Given the description of an element on the screen output the (x, y) to click on. 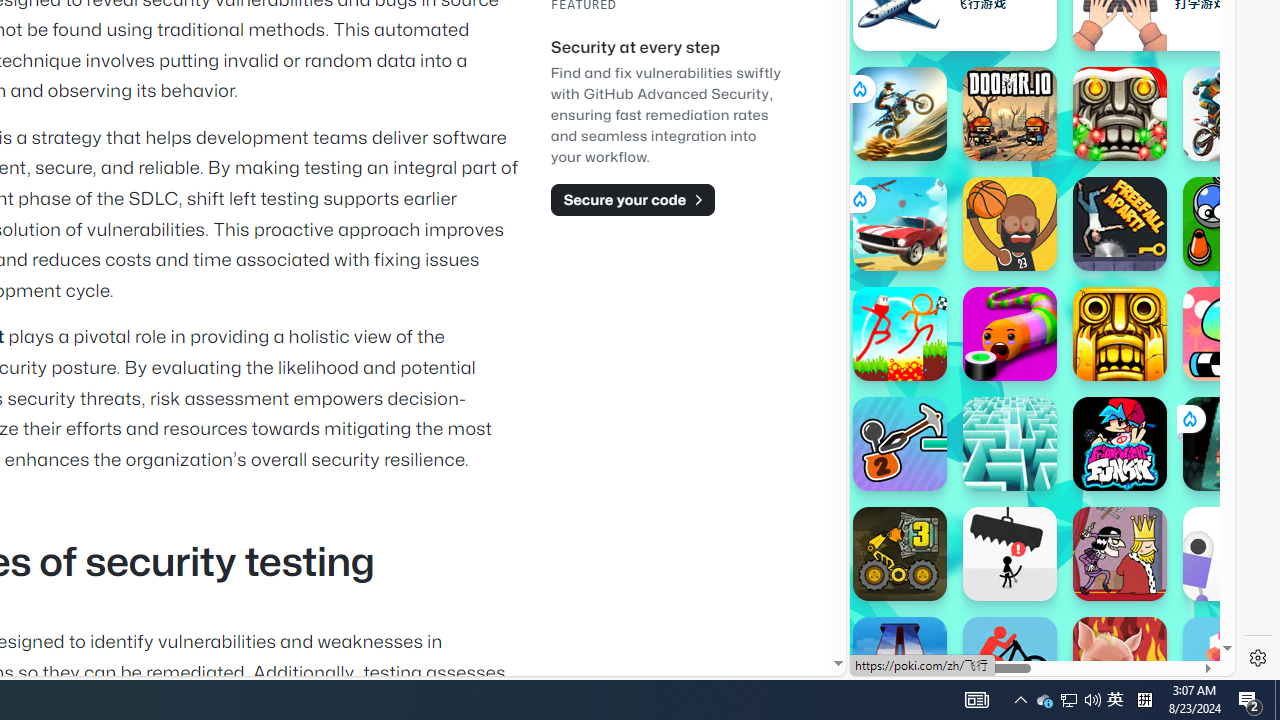
Search results from poki.com (1005, 59)
Goal Training (1229, 223)
Stickman Parkour 3 (899, 333)
Hills of Steel Hills of Steel poki.com (943, 245)
Combat Reloaded (1090, 290)
Doomr.io Doomr.io (1009, 113)
Poki (1034, 606)
Murder (1119, 553)
Freefall Apart (1119, 223)
Murder Murder (1119, 553)
Temple Run 2: Frozen Festival (1119, 113)
Secure your code (632, 199)
